Given the description of an element on the screen output the (x, y) to click on. 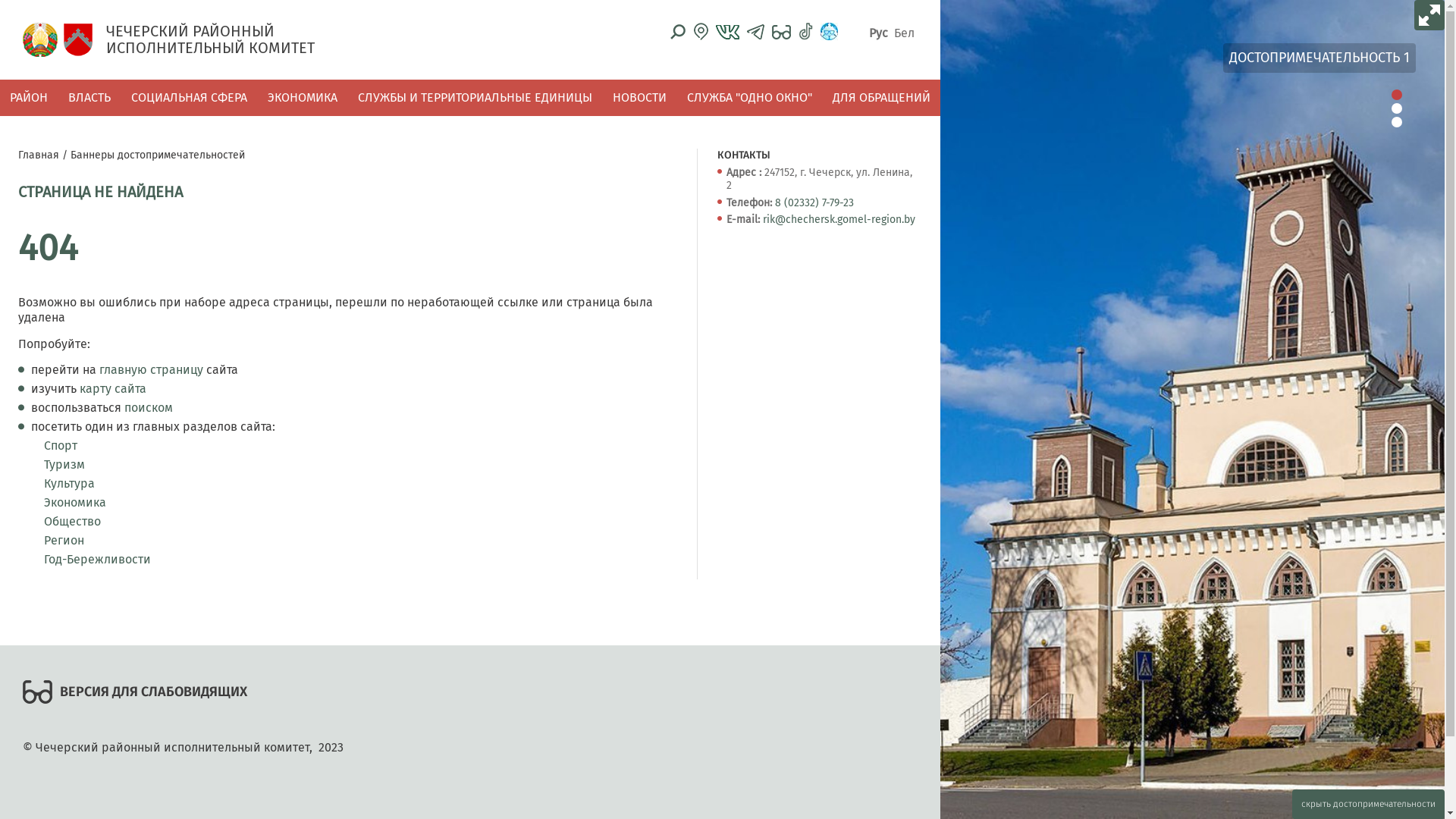
telegram Element type: hover (755, 31)
2 Element type: text (1396, 108)
8 (02332) 7-79-23 Element type: text (814, 202)
VK Element type: hover (727, 32)
rik@chechersk.gomel-region.by Element type: text (838, 219)
Tiktok Element type: hover (805, 31)
telegram Element type: hover (755, 31)
1 Element type: text (1396, 94)
VK Element type: hover (727, 30)
3 Element type: text (1396, 121)
